Given the description of an element on the screen output the (x, y) to click on. 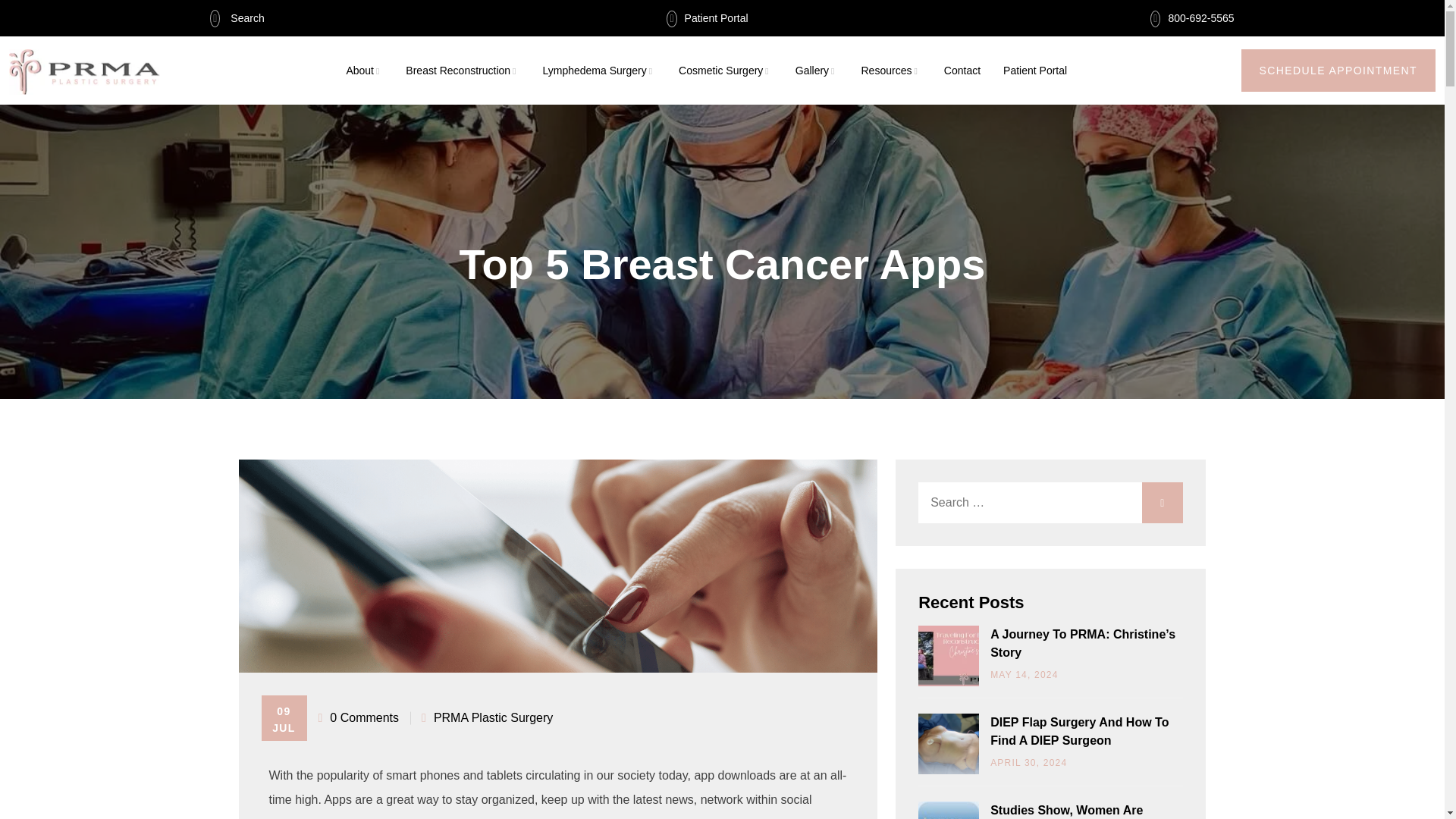
Search (236, 18)
Breast Reconstruction (458, 70)
800-692-5565 (1191, 18)
Patient Portal (707, 18)
About (360, 70)
